Given the description of an element on the screen output the (x, y) to click on. 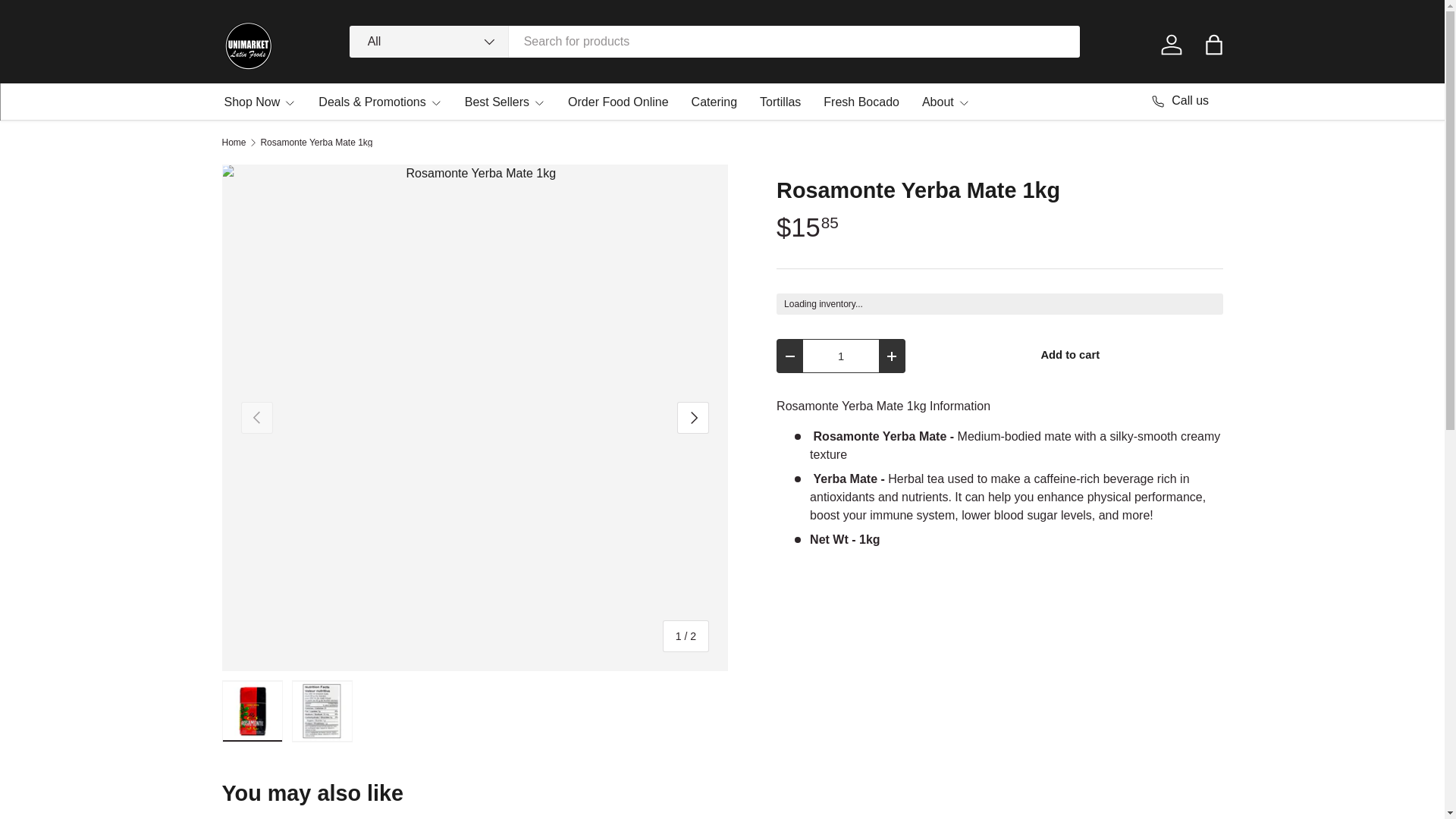
Skip to content (64, 21)
1 (841, 355)
Bag (1213, 44)
Log in (1171, 44)
All (428, 41)
Shop Now (260, 101)
